Given the description of an element on the screen output the (x, y) to click on. 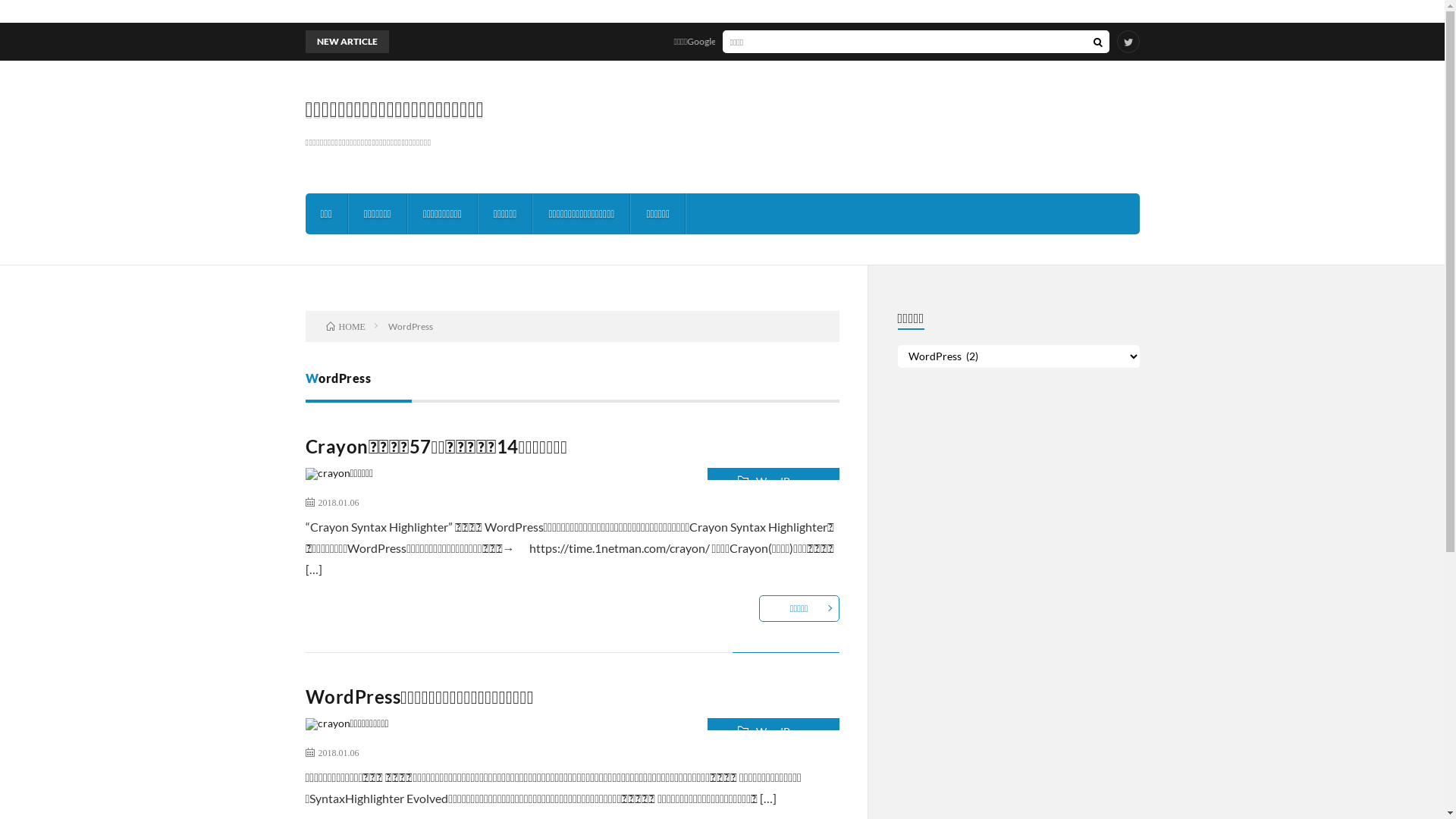
HOME Element type: text (345, 326)
WordPress Element type: text (772, 731)
search Element type: text (1096, 41)
WordPress Element type: text (772, 480)
